Given the description of an element on the screen output the (x, y) to click on. 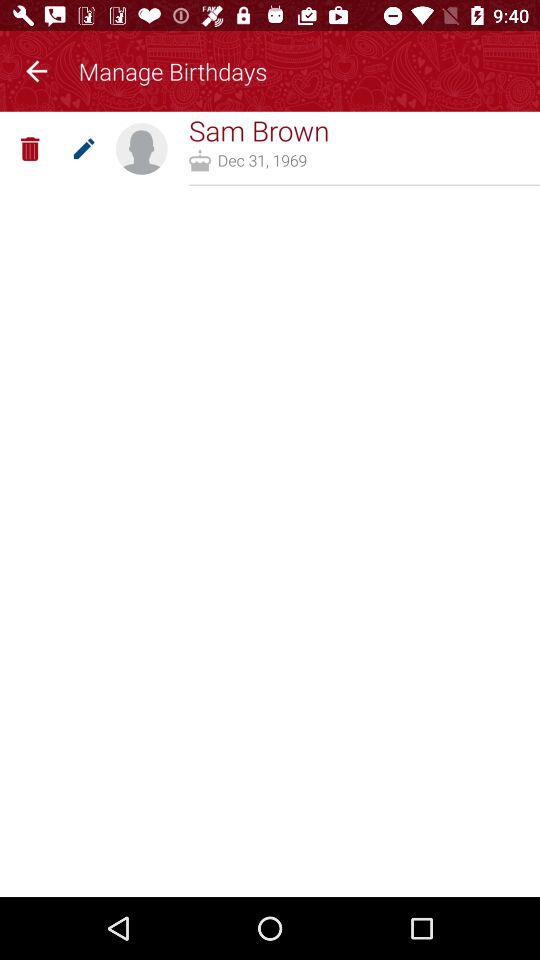
launch the icon below manage birthdays item (258, 130)
